Given the description of an element on the screen output the (x, y) to click on. 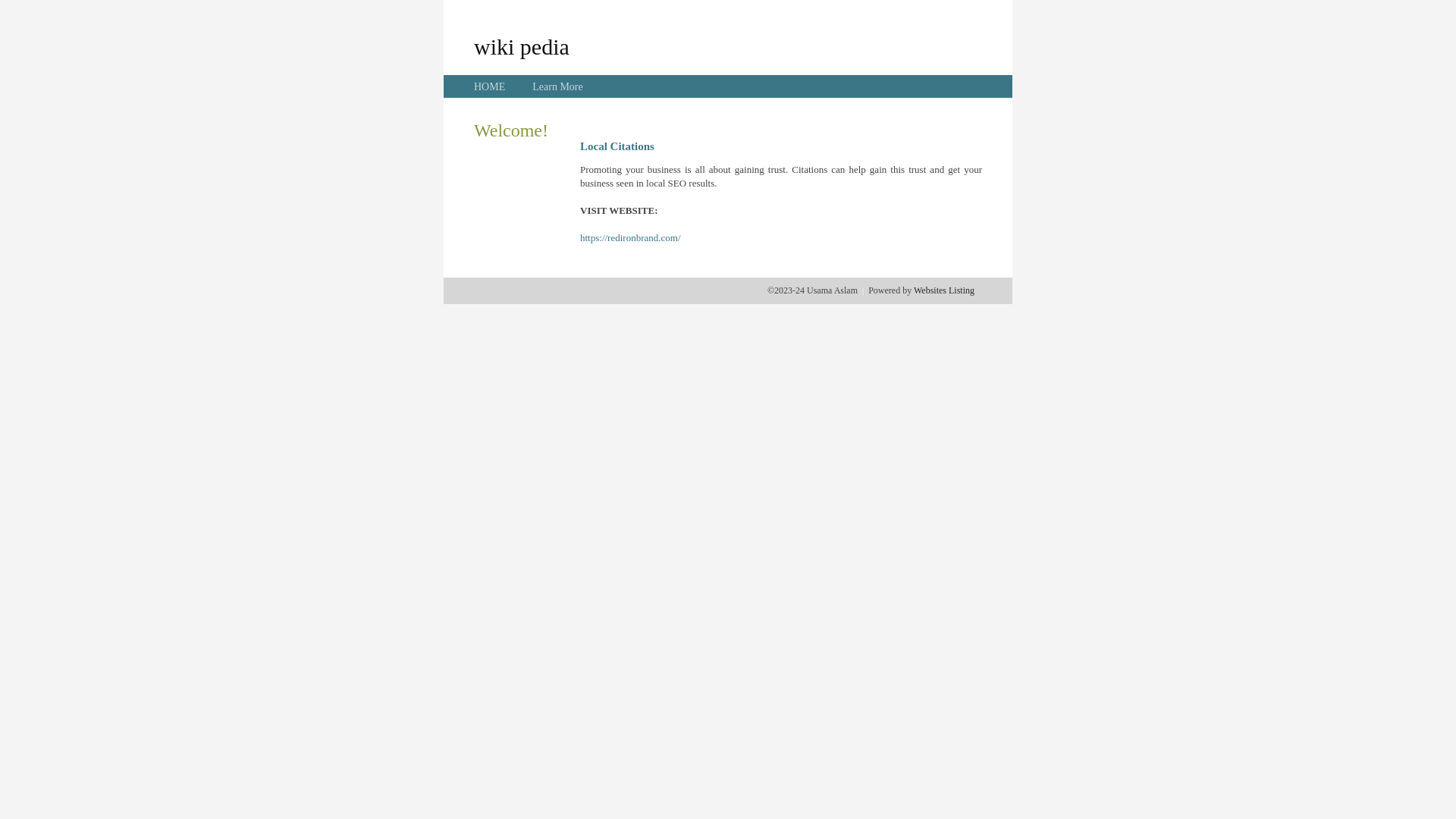
wiki pedia Element type: text (521, 46)
Learn More Element type: text (557, 86)
https://redironbrand.com/ Element type: text (630, 237)
HOME Element type: text (489, 86)
Websites Listing Element type: text (943, 290)
